Given the description of an element on the screen output the (x, y) to click on. 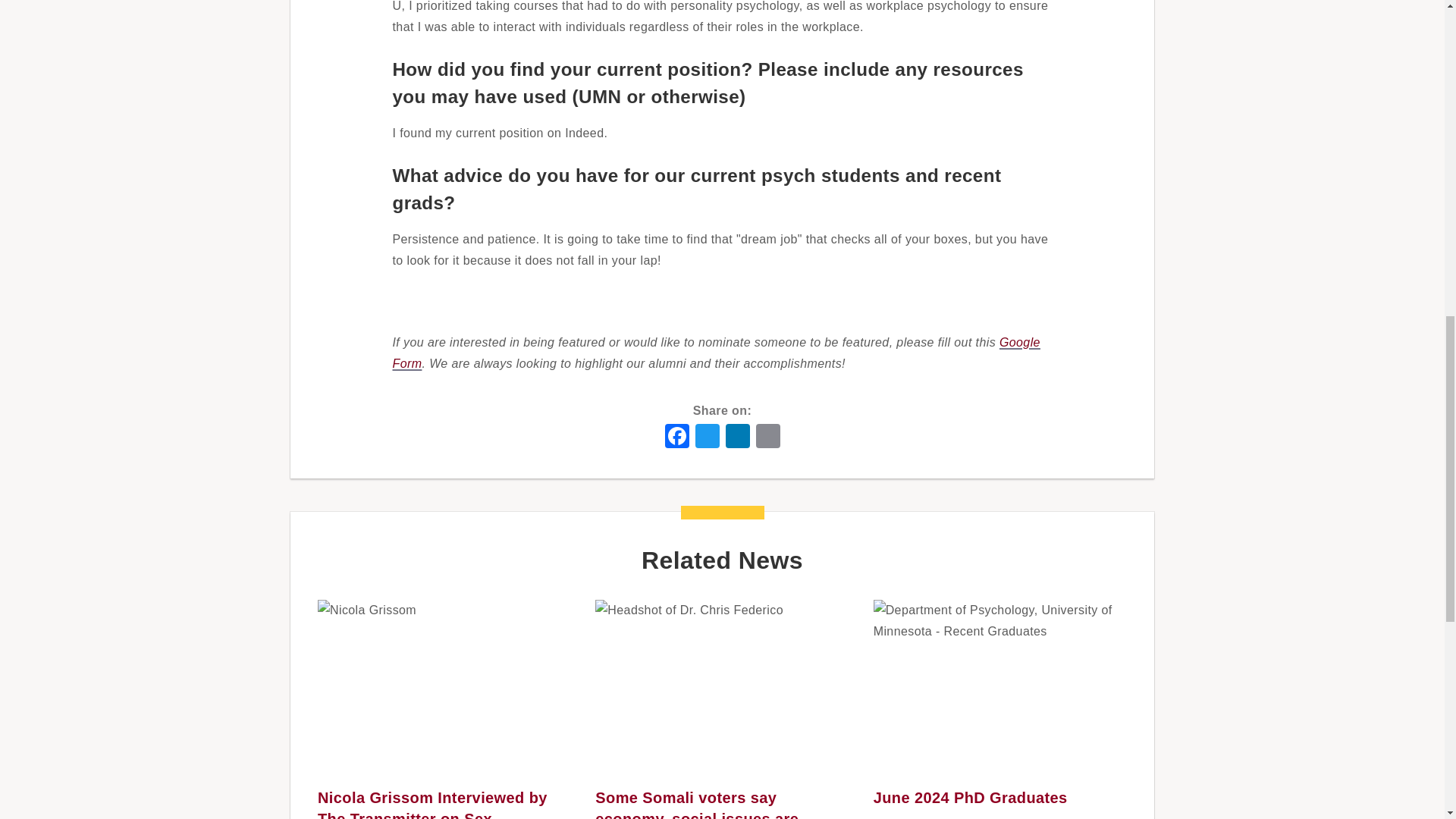
Email (766, 434)
Facebook (675, 434)
June 2024 PhD Graduates (970, 797)
Google Form (717, 352)
LinkedIn (737, 434)
Twitter (706, 434)
